Given the description of an element on the screen output the (x, y) to click on. 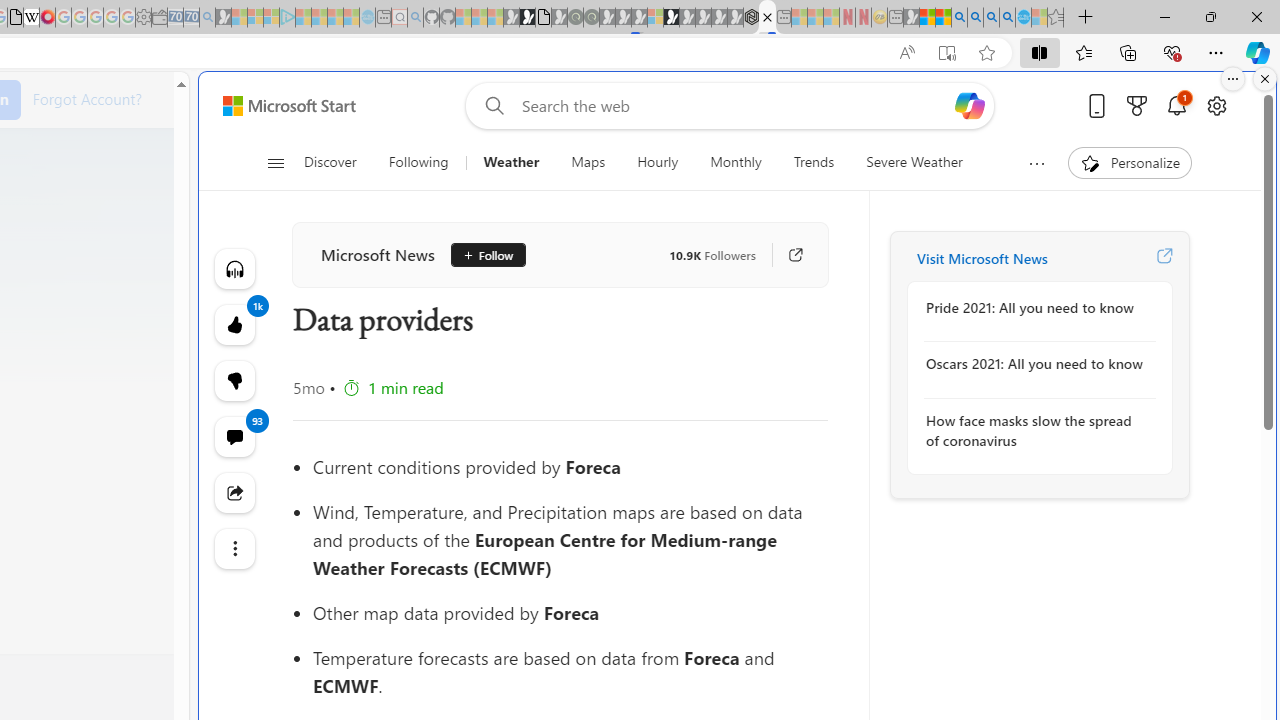
Maps (587, 162)
Skip to footer (277, 105)
MSN - Sleeping (911, 17)
Target page - Wikipedia (31, 17)
Wallet - Sleeping (159, 17)
Monthly (735, 162)
Dislike (234, 380)
Follow (480, 255)
Sign in to your account - Sleeping (655, 17)
